Given the description of an element on the screen output the (x, y) to click on. 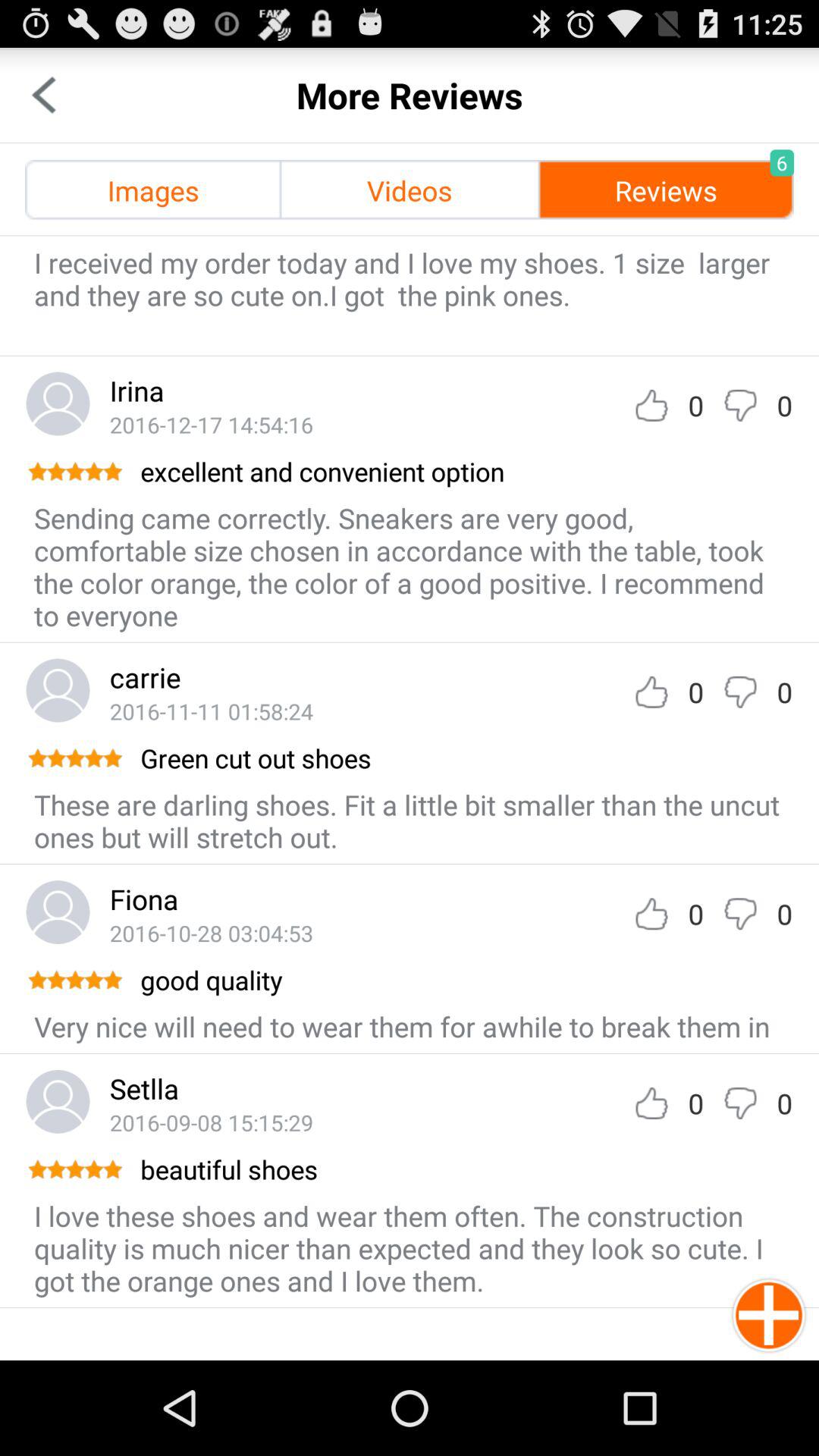
select 2016 10 28 item (211, 932)
